Given the description of an element on the screen output the (x, y) to click on. 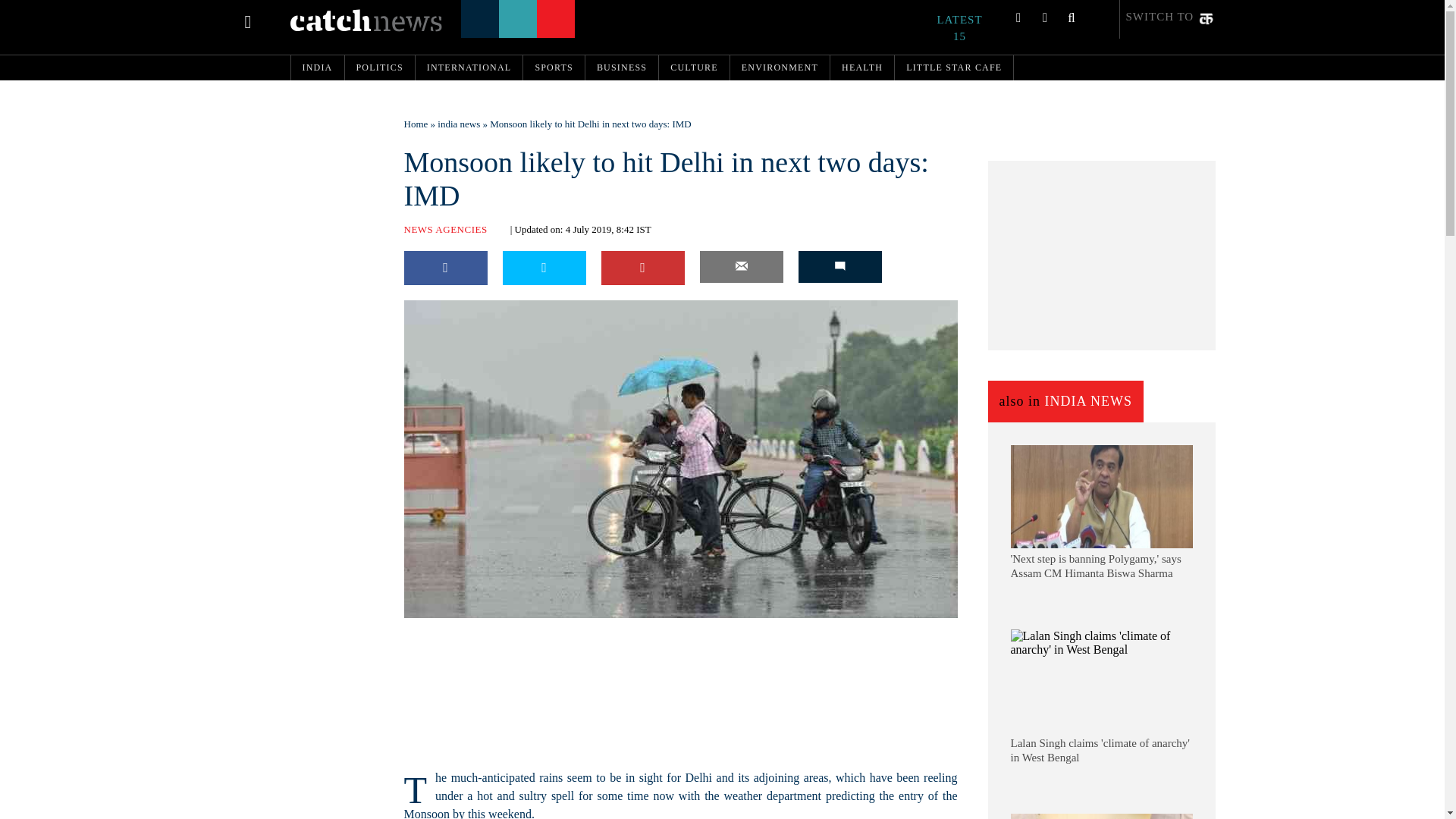
Twitter Follow Button (501, 628)
fb:like Facebook Social Plugin (422, 628)
LATEST 15 (968, 28)
Catch News (365, 20)
